Given the description of an element on the screen output the (x, y) to click on. 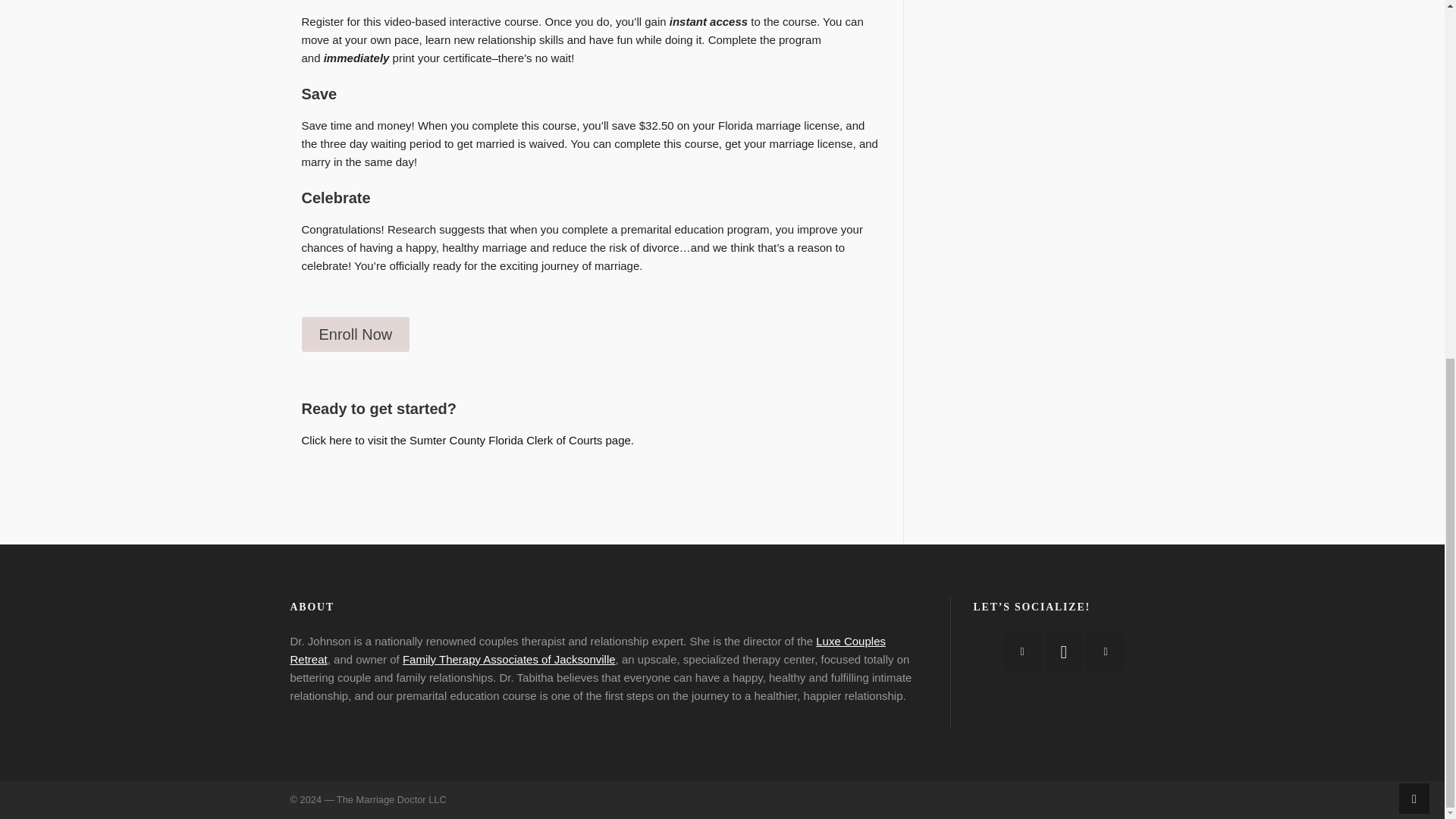
Luxe Couples Retreat (587, 649)
Enroll Now (355, 334)
Family Therapy Associates of Jacksonville (509, 658)
